Given the description of an element on the screen output the (x, y) to click on. 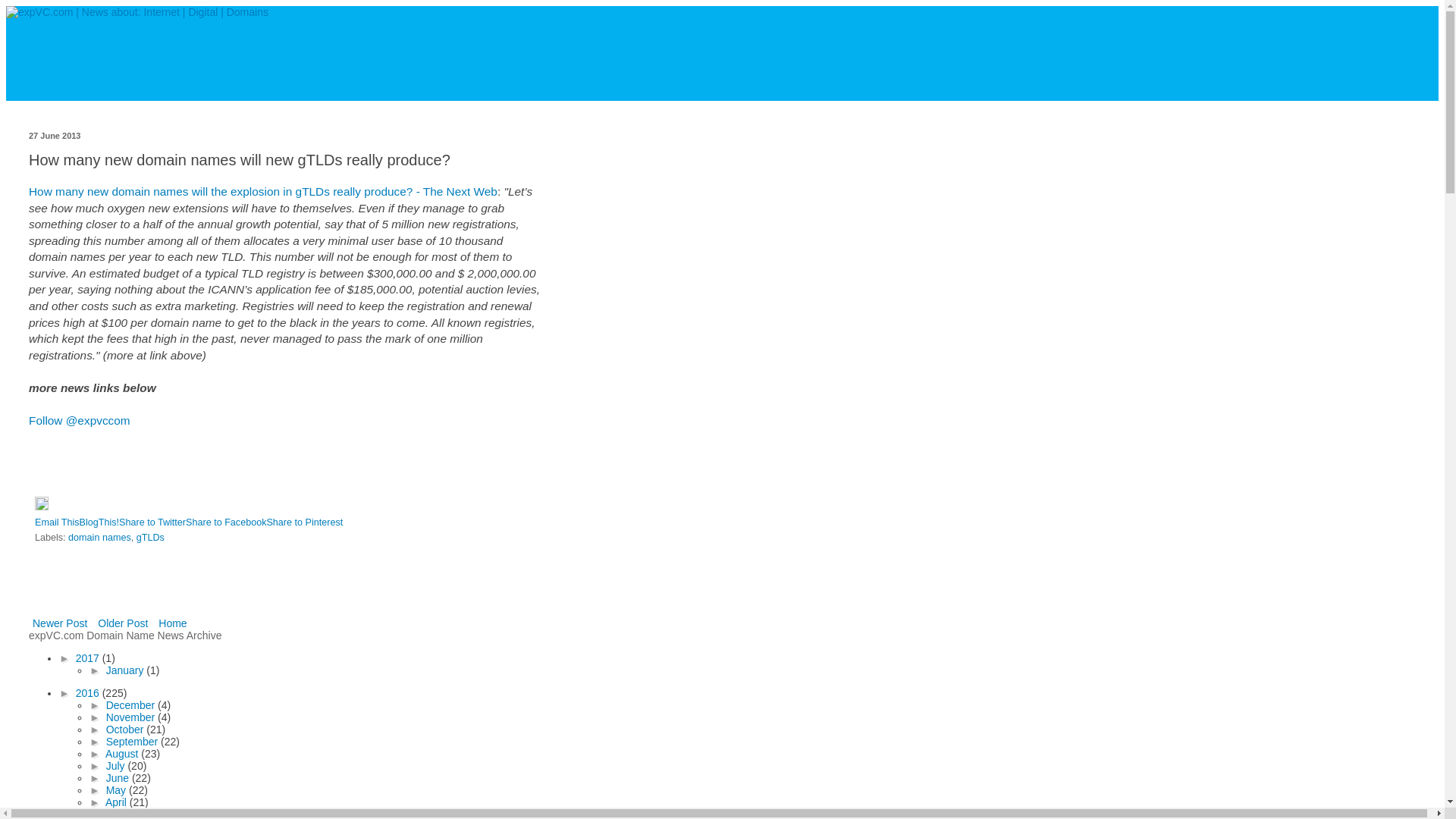
Share to Facebook (226, 521)
Newer Post (59, 623)
April (116, 802)
gTLDs (150, 537)
Edit Post (41, 507)
Email This (57, 521)
Advertisement (206, 592)
October (126, 729)
January (126, 670)
May (117, 789)
domain names (99, 537)
2017 (88, 657)
Older Post (122, 623)
Home (172, 623)
